Given the description of an element on the screen output the (x, y) to click on. 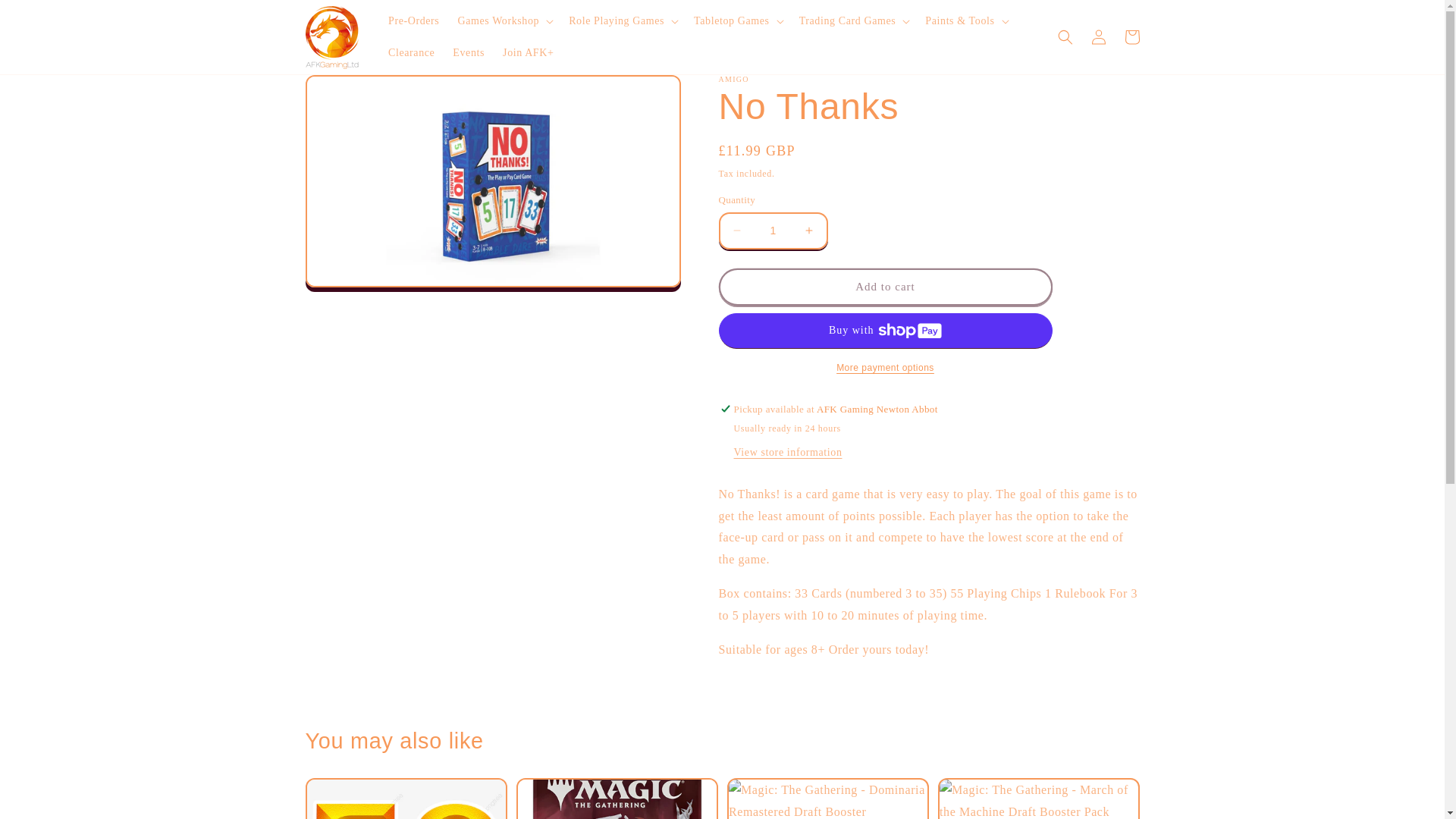
Skip to content (46, 18)
1 (773, 230)
Smile.io Rewards Program Launcher (1406, 780)
